Given the description of an element on the screen output the (x, y) to click on. 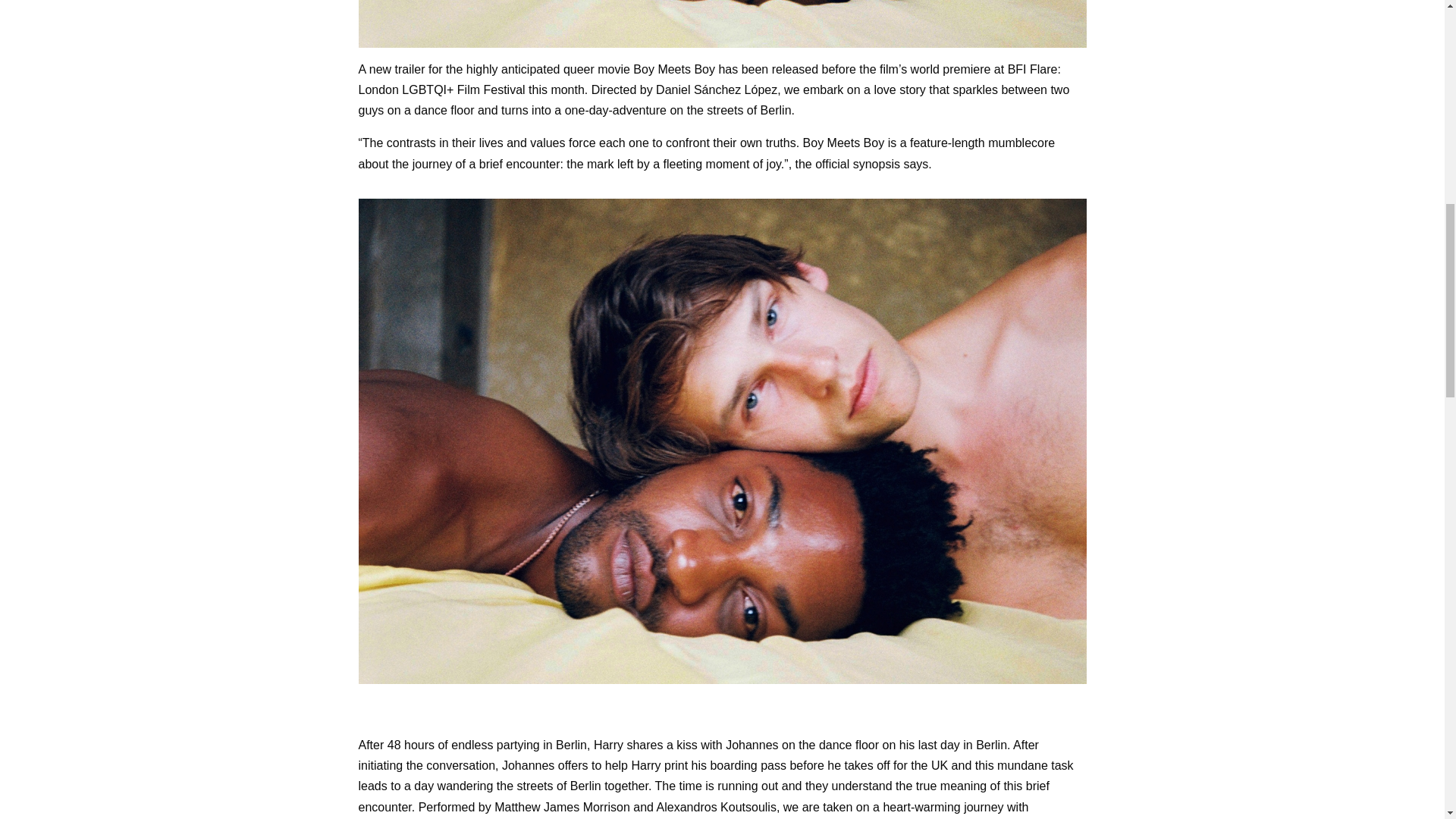
Boy-Meets-Boy (722, 23)
